Given the description of an element on the screen output the (x, y) to click on. 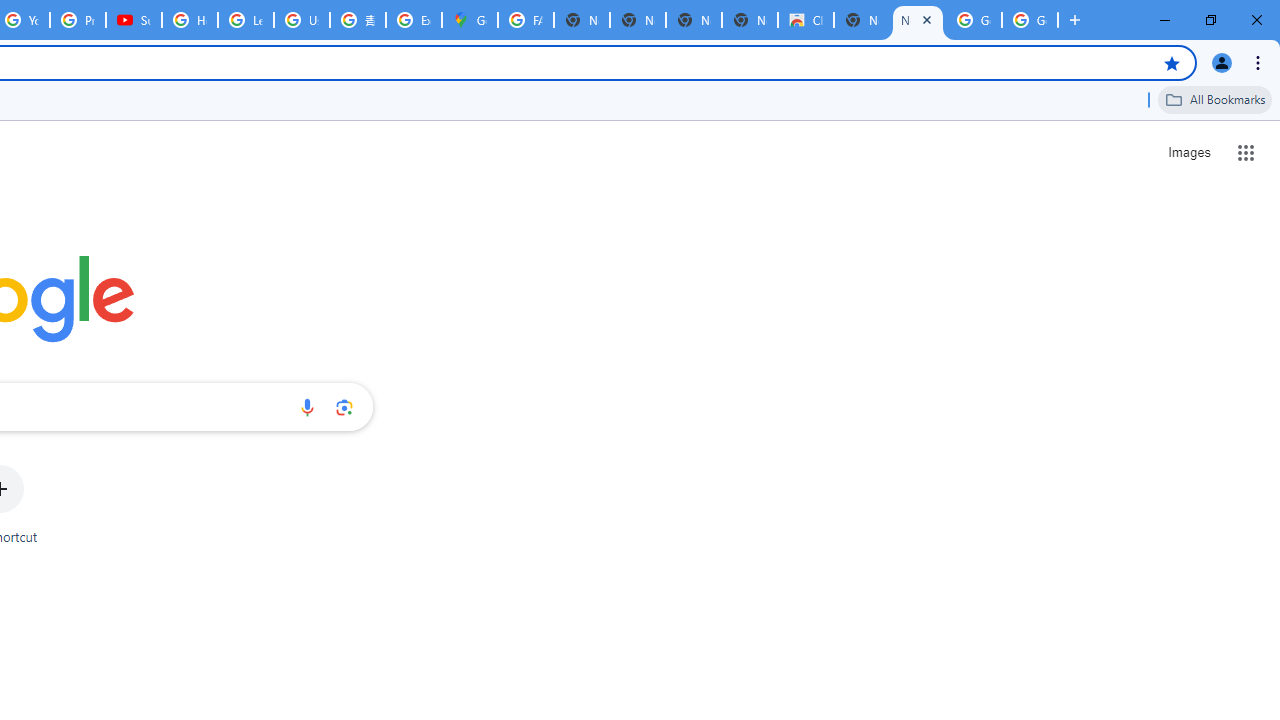
New Tab (861, 20)
New Tab (917, 20)
Subscriptions - YouTube (134, 20)
Search for Images  (1188, 152)
How Chrome protects your passwords - Google Chrome Help (189, 20)
Search by image (344, 407)
Explore new street-level details - Google Maps Help (413, 20)
